Given the description of an element on the screen output the (x, y) to click on. 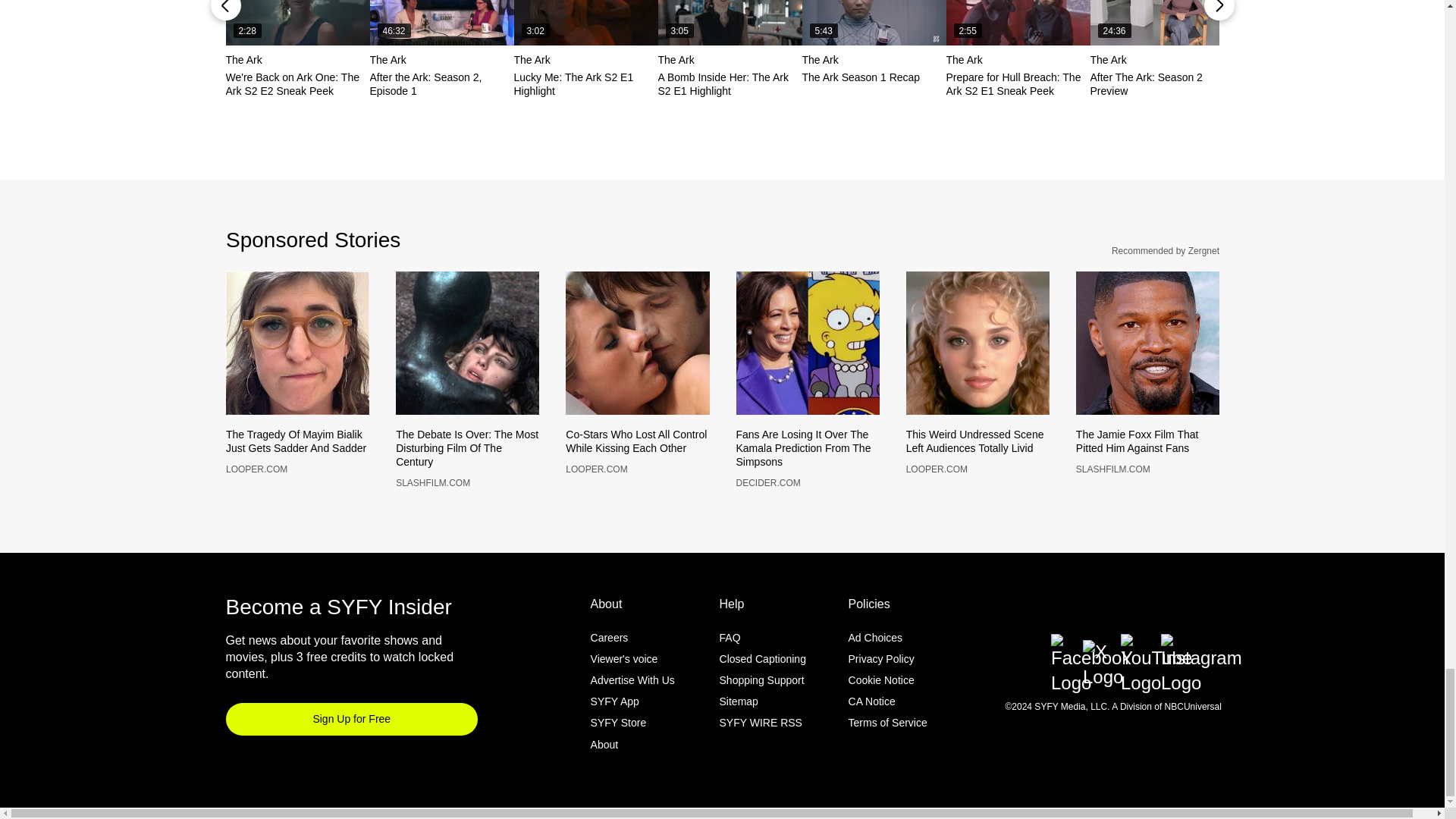
After The Ark: Season 2 Preview (1162, 22)
We're Back on Ark One: The Ark S2 E2 Sneak Peek (297, 22)
After the Ark: Season 2, Episode 1 (441, 22)
A Bomb Inside Her: The Ark S2 E1 Highlight (730, 22)
Prepare for Hull Breach: The Ark S2 E1 Sneak Peek (1018, 22)
The Ark Season 1 Recap (874, 22)
Advertise With Us (633, 705)
Lucky Me: The Ark S2 E1 Highlight (585, 22)
